Given the description of an element on the screen output the (x, y) to click on. 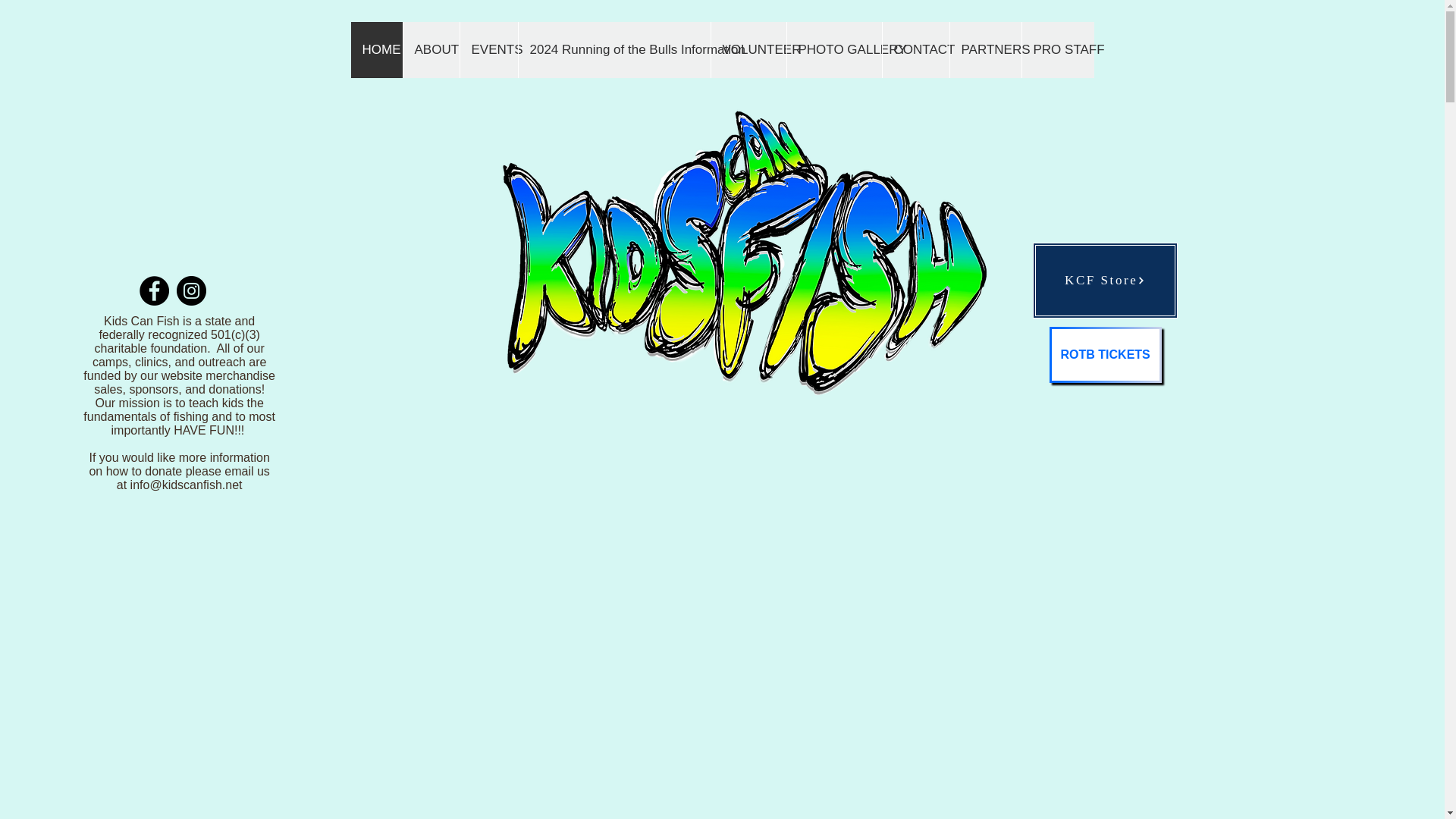
ROTB TICKETS (1105, 354)
HOME (375, 49)
PHOTO GALLERY (833, 49)
2024 Running of the Bulls Information (613, 49)
VOLUNTEER (748, 49)
EVENTS (489, 49)
ABOUT (429, 49)
KCF Store (1104, 280)
PARTNERS (985, 49)
CONTACT (914, 49)
PRO STAFF (1056, 49)
